Given the description of an element on the screen output the (x, y) to click on. 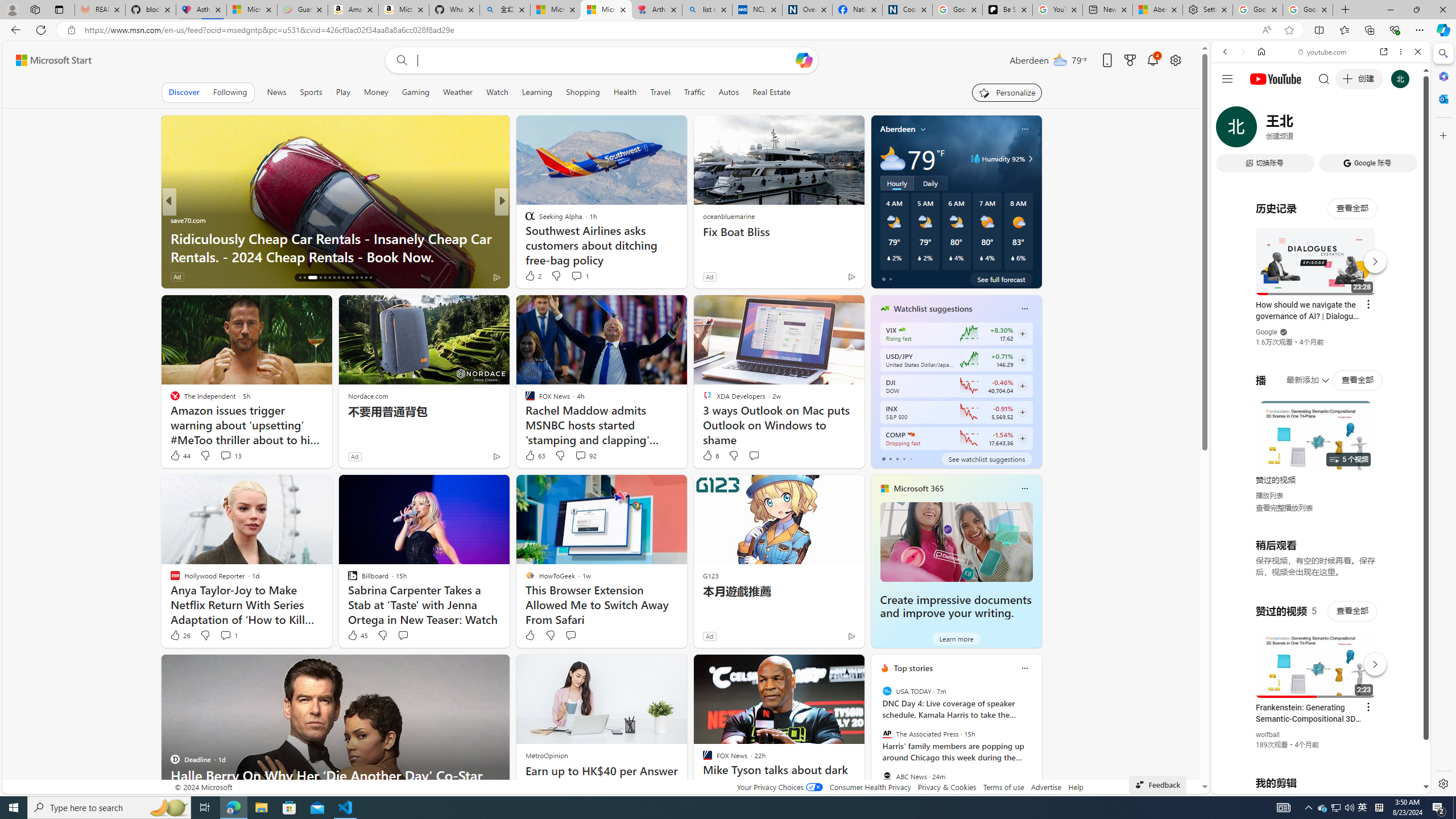
Traffic (694, 92)
Fix Boat Bliss (778, 232)
Money (376, 92)
G123 (710, 574)
YouTube - YouTube (1315, 560)
Learning (537, 92)
View comments 7 Comment (583, 276)
MetroOpinion (546, 755)
Autos (728, 92)
25 Like (530, 276)
